Given the description of an element on the screen output the (x, y) to click on. 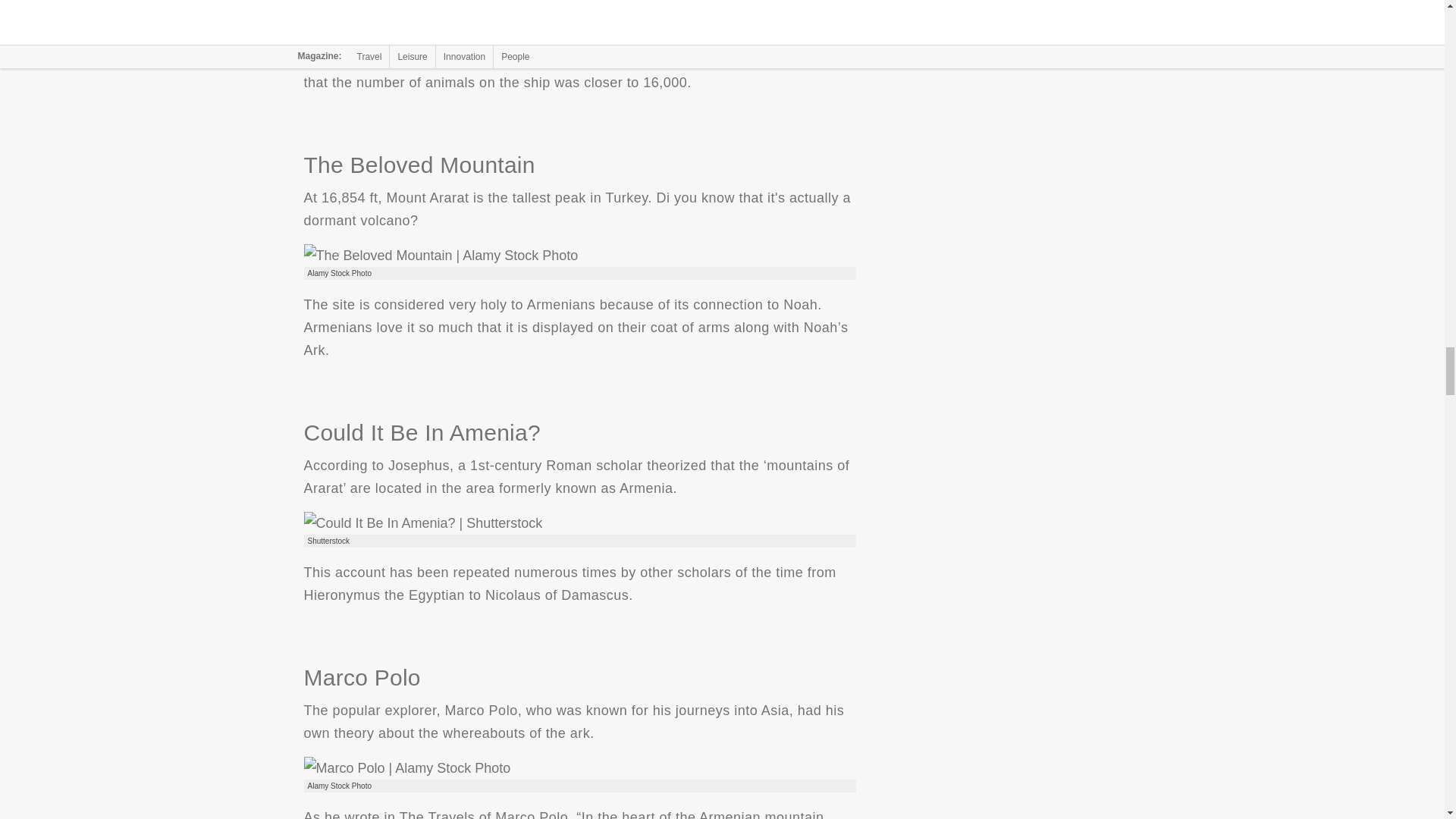
The Beloved Mountain (440, 255)
Could It Be In Amenia? (421, 522)
